Given the description of an element on the screen output the (x, y) to click on. 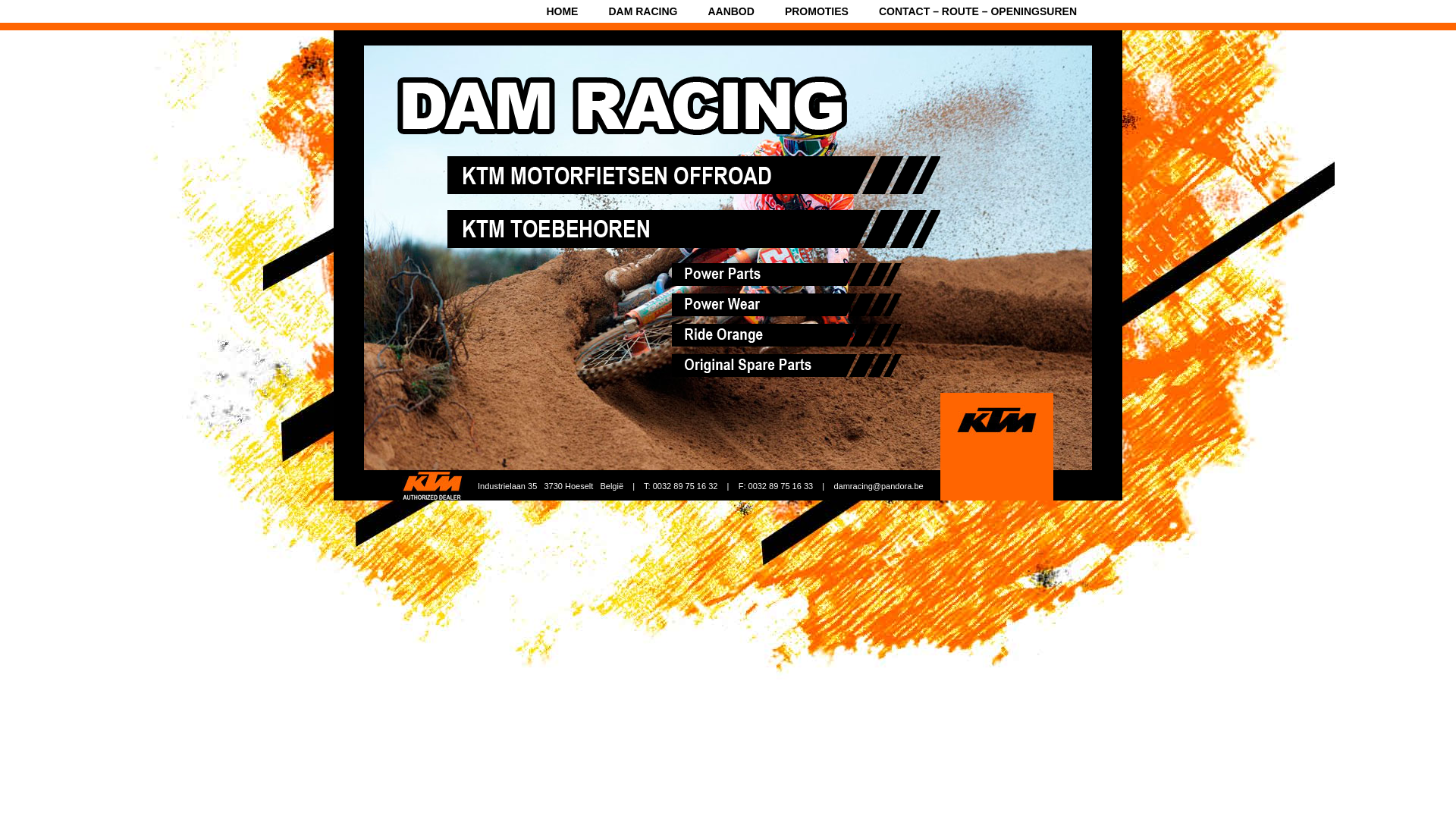
PROMOTIES Element type: text (816, 11)
AANBOD Element type: text (730, 11)
HOME Element type: text (561, 11)
DAM RACING Element type: text (642, 11)
